Given the description of an element on the screen output the (x, y) to click on. 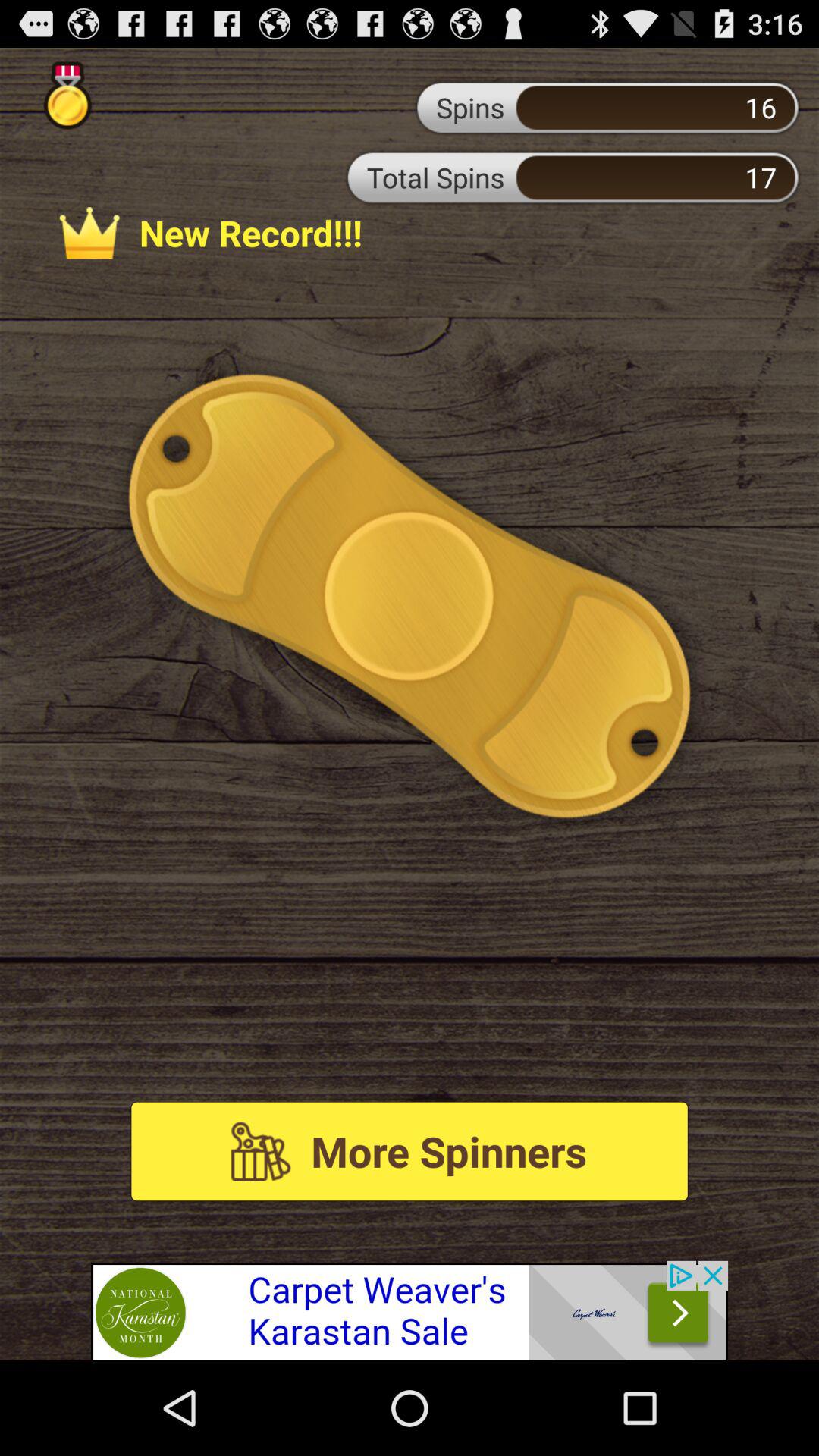
new advertisement go option (409, 1310)
